Given the description of an element on the screen output the (x, y) to click on. 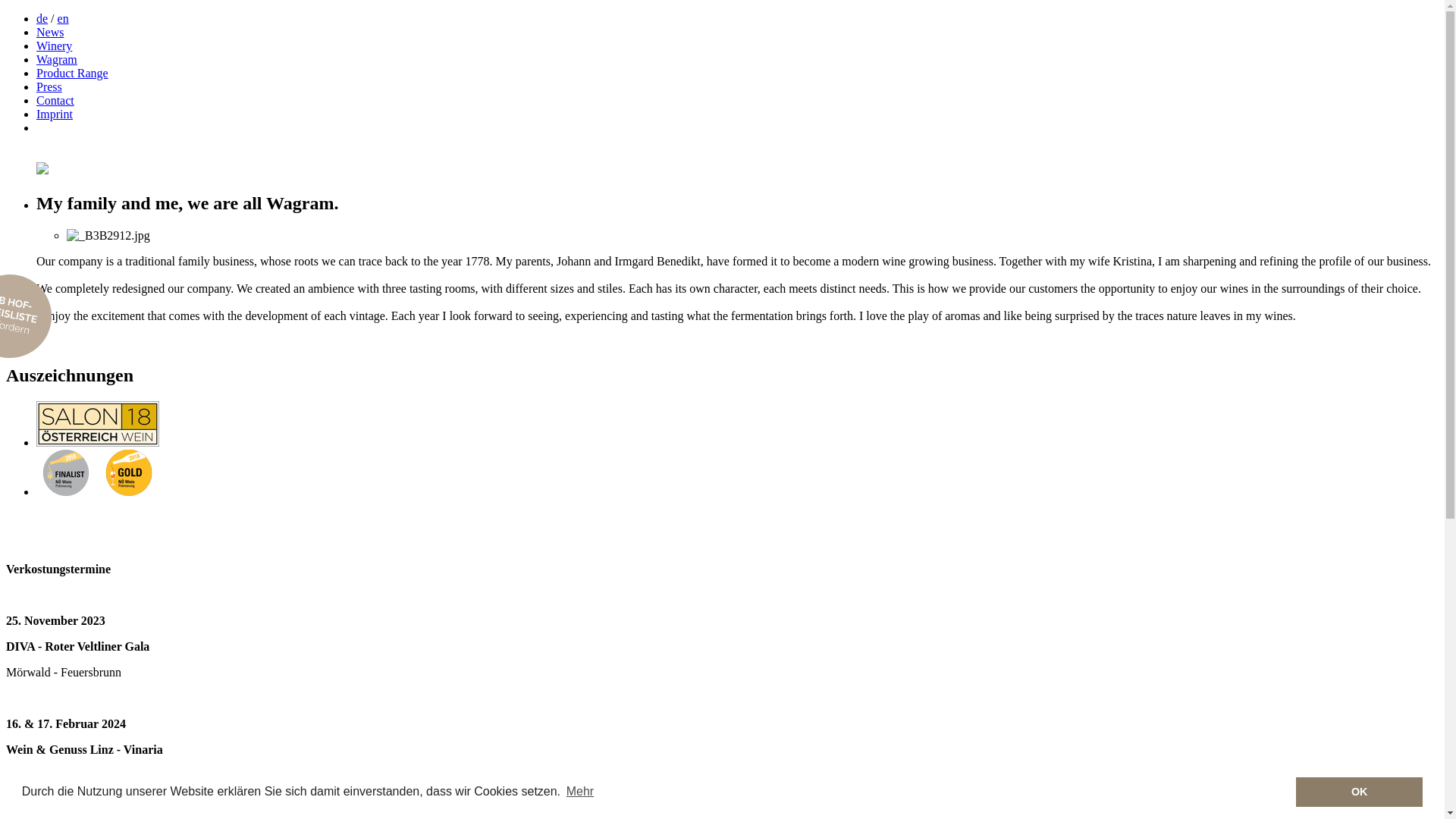
Wagram Element type: text (56, 59)
de Element type: text (41, 18)
Winery Element type: text (54, 45)
Mehr Element type: text (580, 791)
_B3B2912.jpg Element type: hover (108, 235)
OK Element type: text (1358, 791)
en Element type: text (63, 18)
Imprint Element type: text (54, 113)
Press Element type: text (49, 86)
News Element type: text (49, 31)
Contact Element type: text (55, 100)
Product Range Element type: text (72, 72)
